Given the description of an element on the screen output the (x, y) to click on. 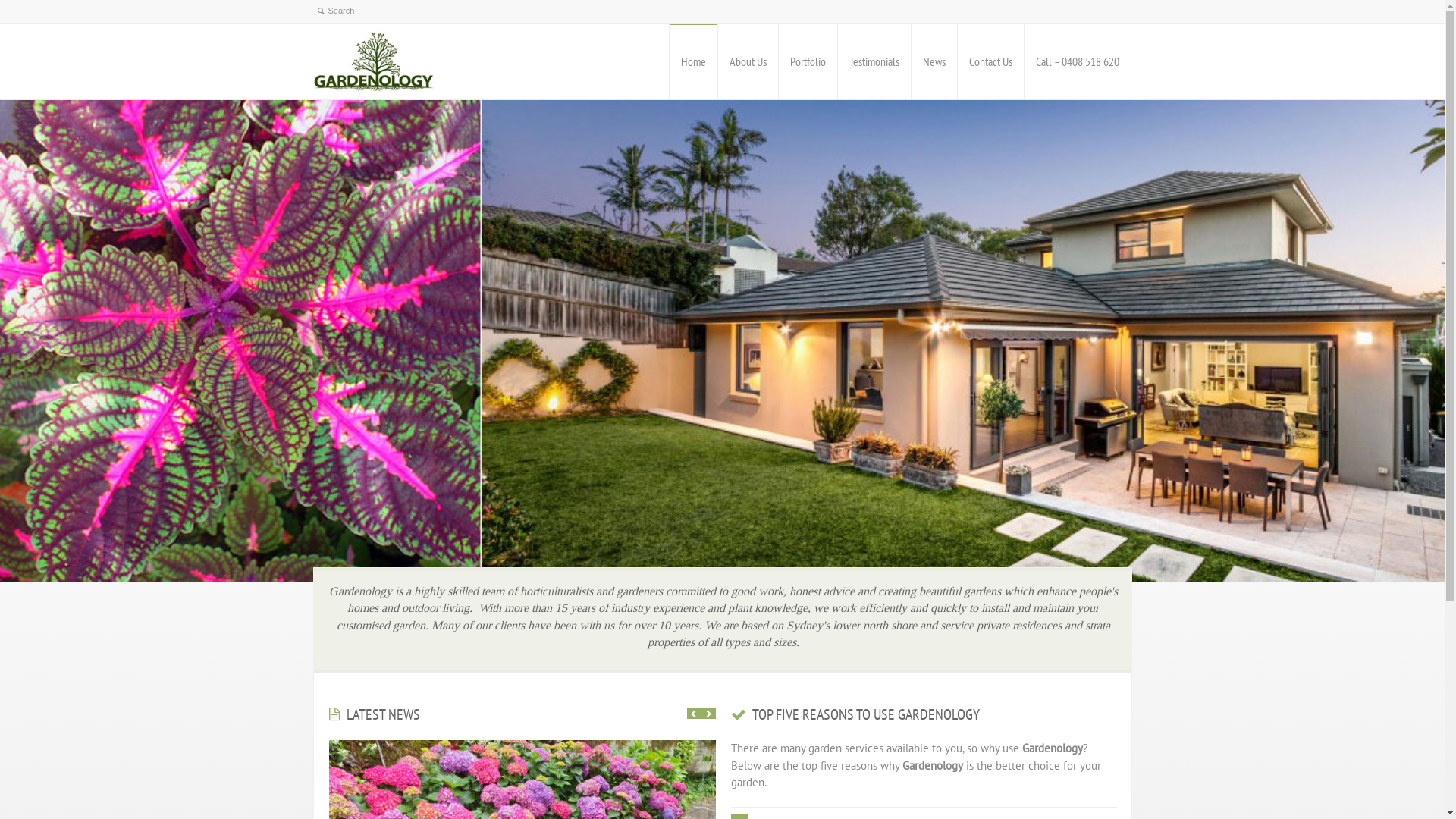
Portfolio Element type: text (807, 61)
About Us Element type: text (747, 61)
News Element type: text (934, 61)
Home Element type: text (692, 61)
Testimonials Element type: text (873, 61)
Gardenology Element type: hover (372, 61)
Contact Us Element type: text (989, 61)
